Given the description of an element on the screen output the (x, y) to click on. 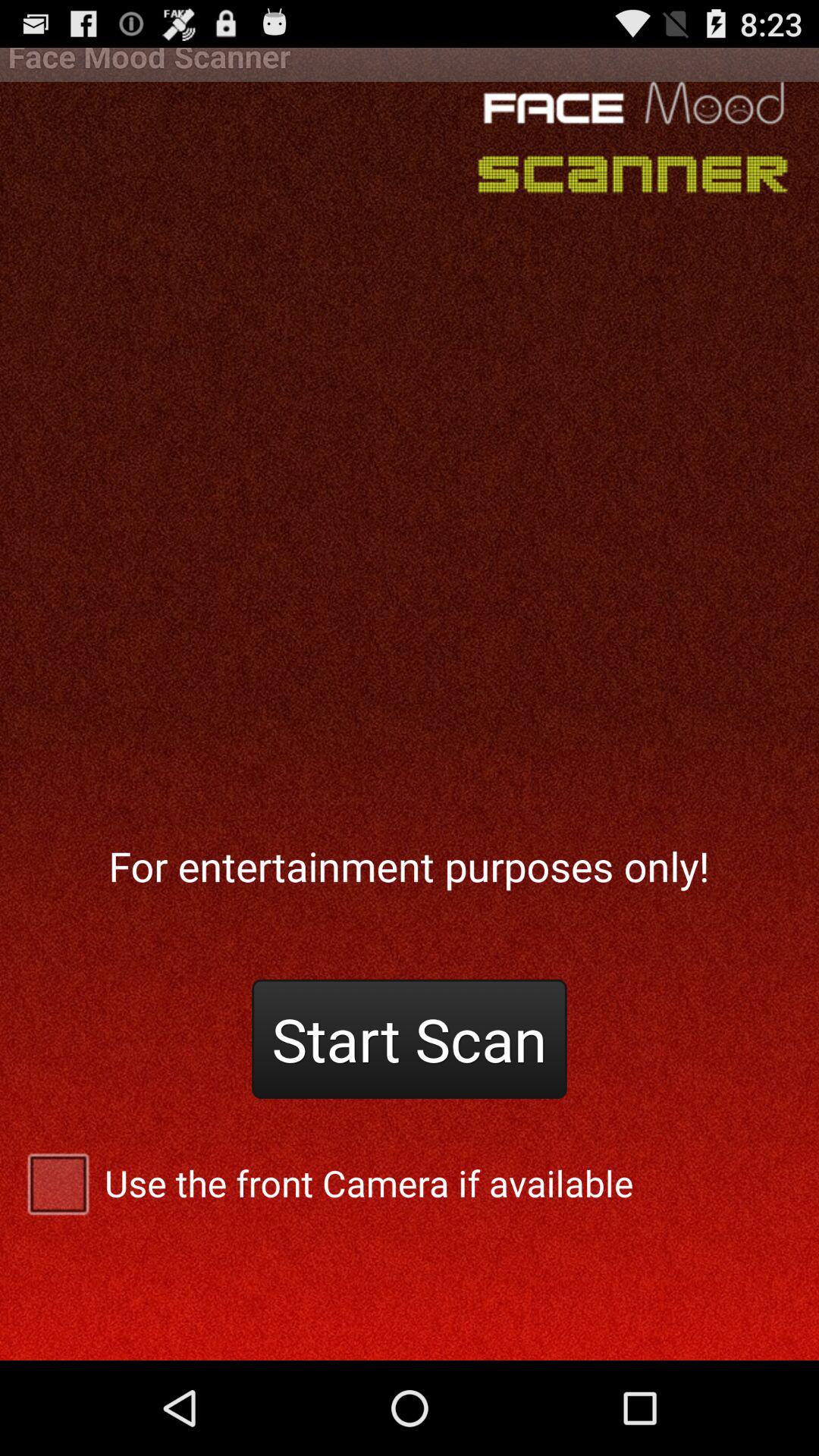
launch icon below start scan item (409, 1182)
